Given the description of an element on the screen output the (x, y) to click on. 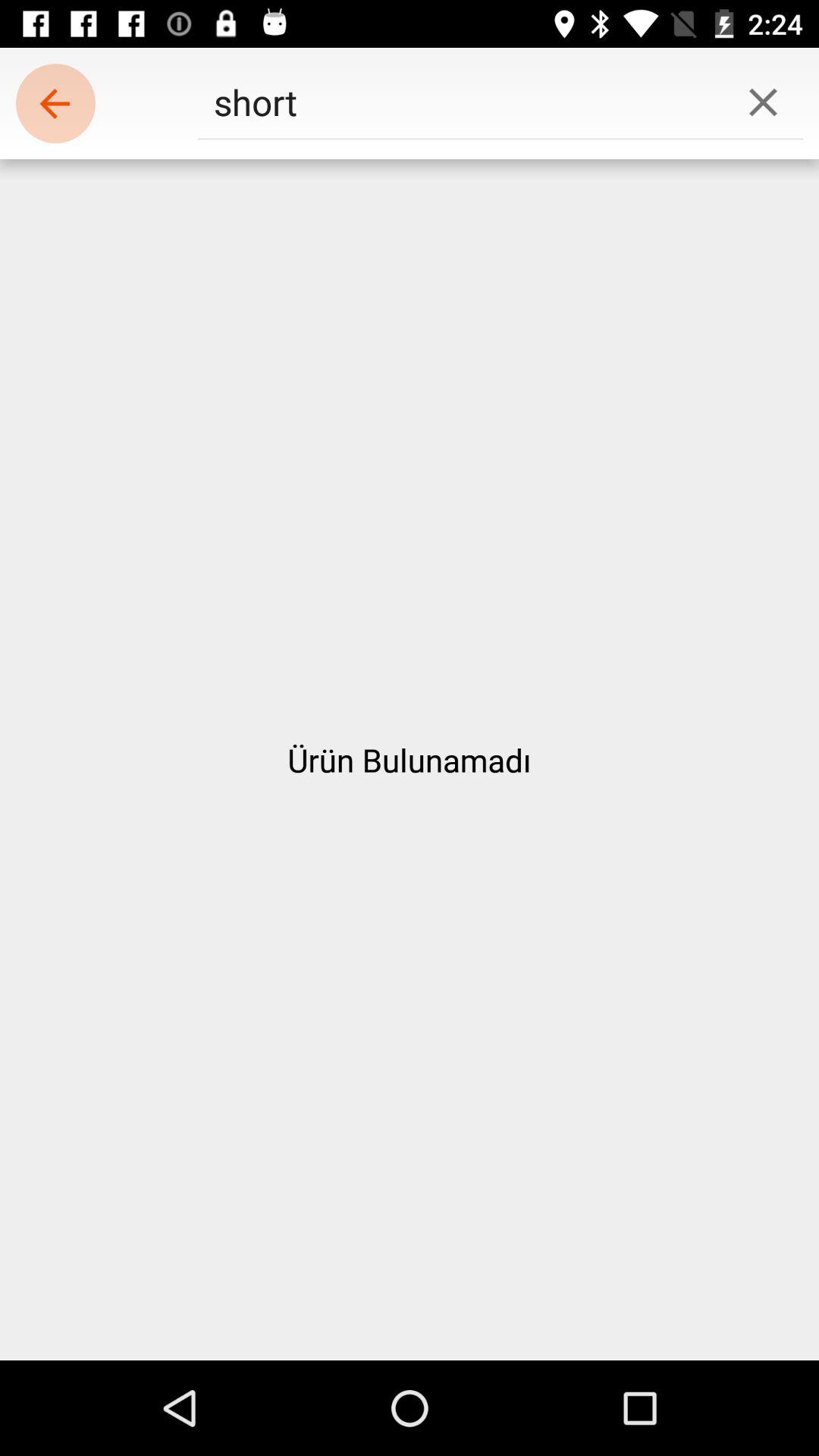
turn off the item next to the short icon (763, 102)
